Given the description of an element on the screen output the (x, y) to click on. 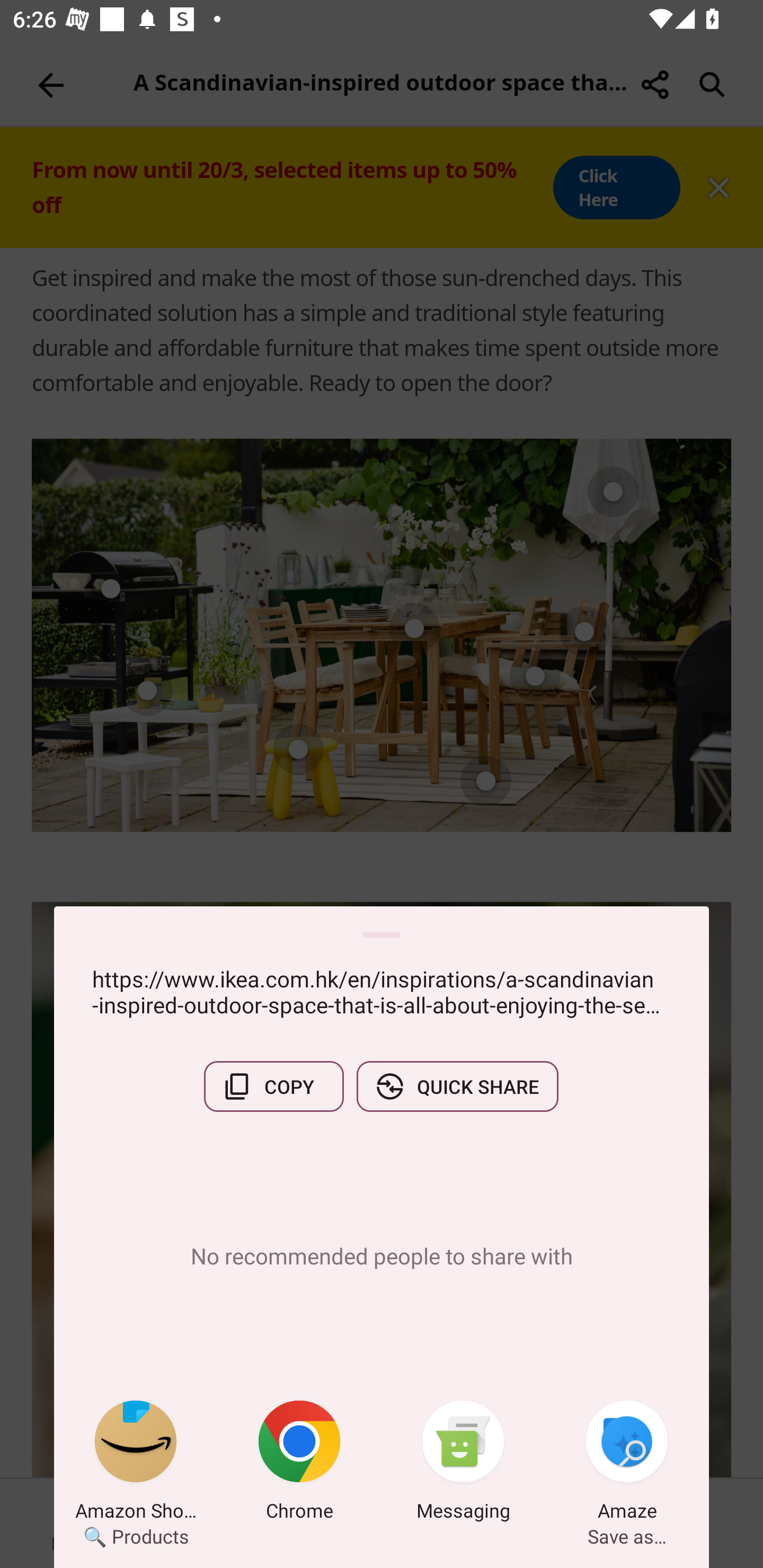
COPY (273, 1086)
QUICK SHARE (457, 1086)
Amazon Shopping 🔍 Products (135, 1463)
Chrome (299, 1463)
Messaging (463, 1463)
Amaze Save as… (626, 1463)
